Given the description of an element on the screen output the (x, y) to click on. 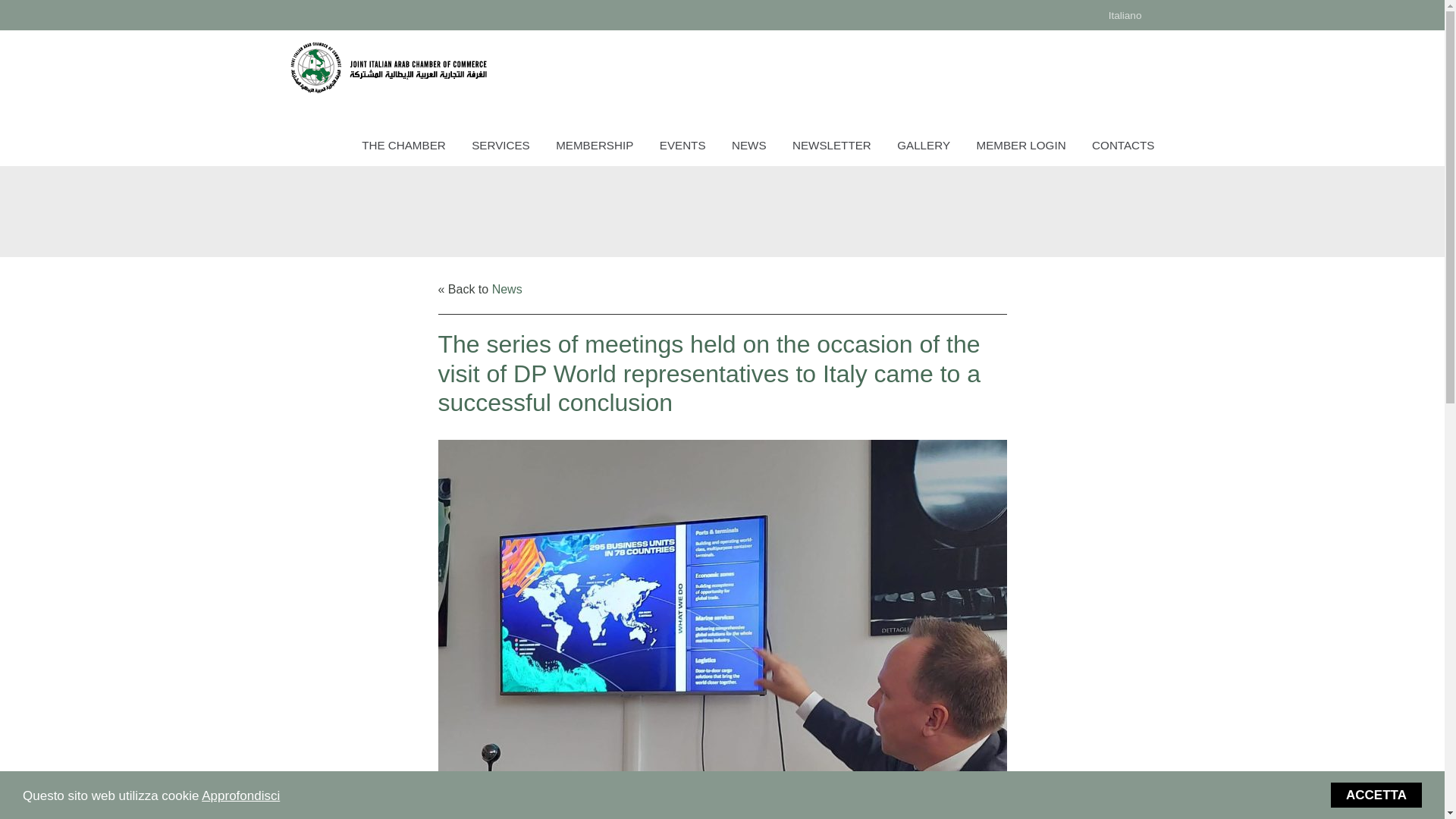
NEWSLETTER (831, 146)
MEMBERSHIP (594, 146)
SERVICES (500, 146)
THE CHAMBER (403, 146)
NEWS (749, 146)
EVENTS (682, 146)
Joint Italian Arab Chamber (387, 67)
Italiano (1125, 14)
